Given the description of an element on the screen output the (x, y) to click on. 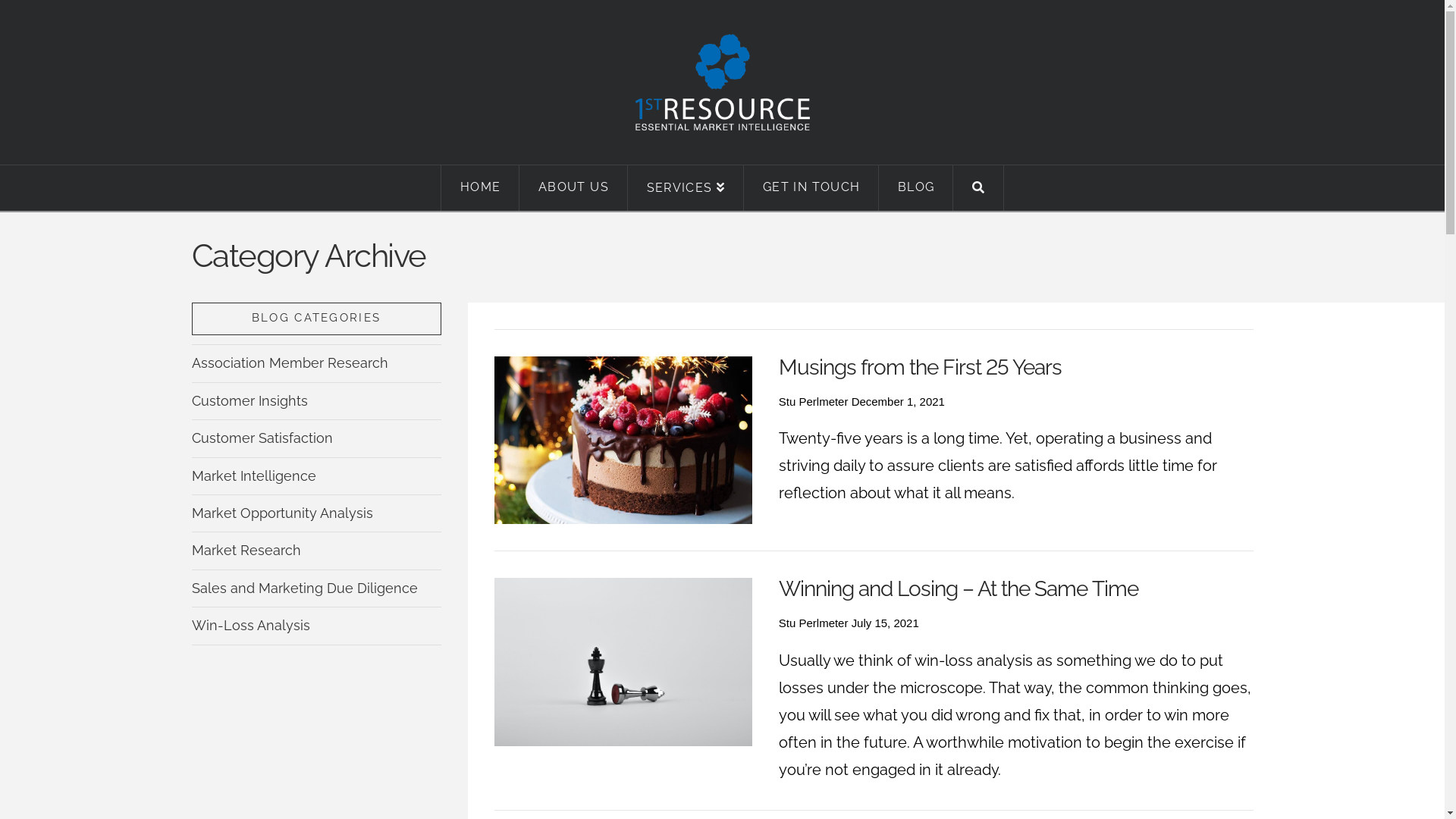
Market Intelligence Element type: text (253, 476)
Customer Insights Element type: text (249, 400)
Sales and Marketing Due Diligence Element type: text (304, 588)
Market Research Element type: text (245, 550)
GET IN TOUCH Element type: text (810, 187)
ABOUT US Element type: text (573, 187)
Win-Loss Analysis Element type: text (250, 625)
Customer Satisfaction Element type: text (261, 438)
SERVICES Element type: text (685, 187)
Association Member Research Element type: text (289, 363)
HOME Element type: text (479, 187)
Musings from the First 25 Years Element type: text (920, 366)
Market Opportunity Analysis Element type: text (281, 513)
BLOG Element type: text (915, 187)
